Given the description of an element on the screen output the (x, y) to click on. 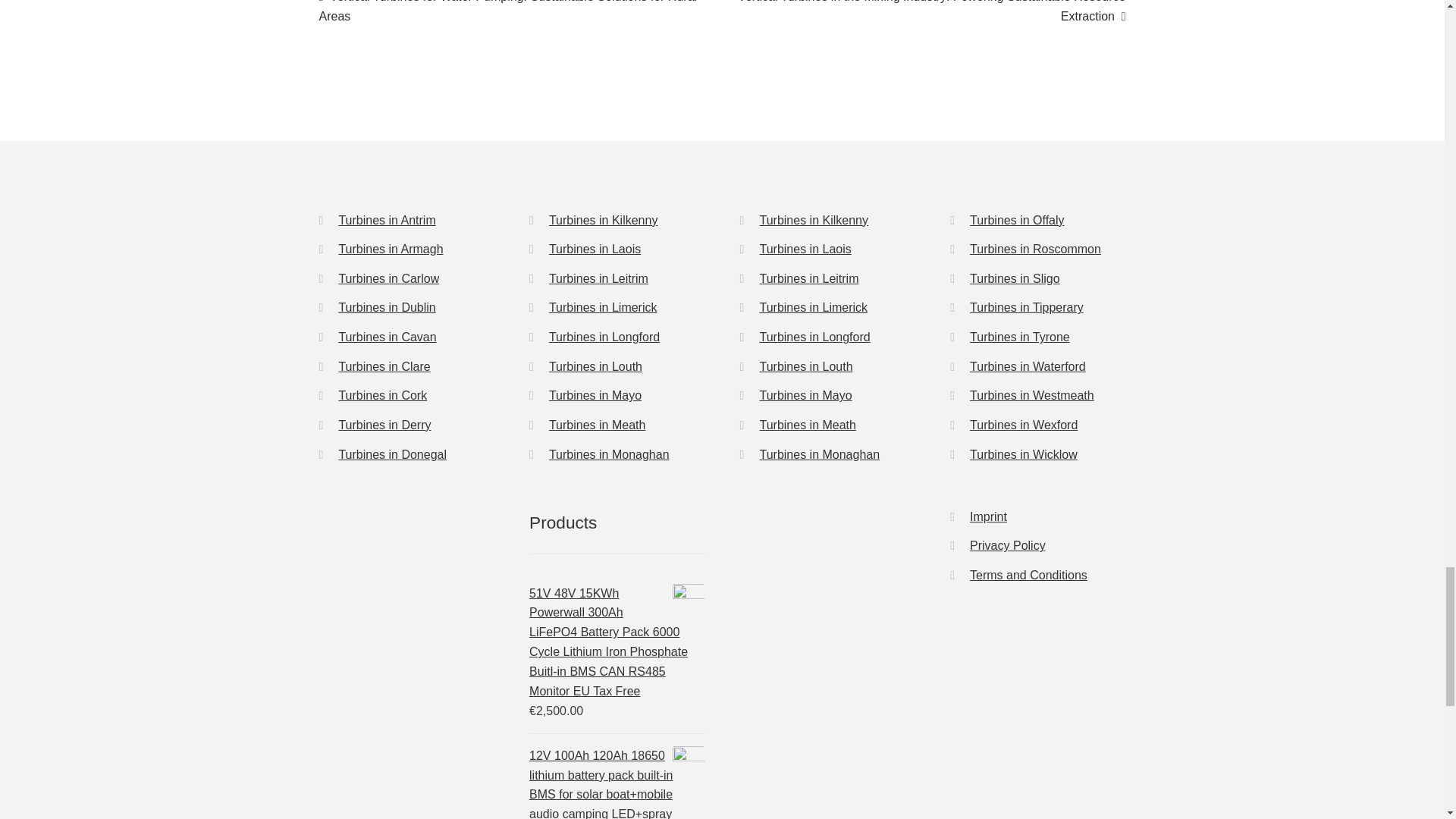
Turbines in Donegal (391, 454)
Turbines in Clare (383, 366)
Turbines in Carlow (388, 278)
Turbines in Antrim (386, 219)
Turbines in Cavan (386, 336)
Turbines in Cork (381, 395)
Turbines in Kilkenny (603, 219)
Turbines in Derry (383, 424)
Turbines in Dublin (386, 307)
Turbines in Armagh (389, 248)
